Given the description of an element on the screen output the (x, y) to click on. 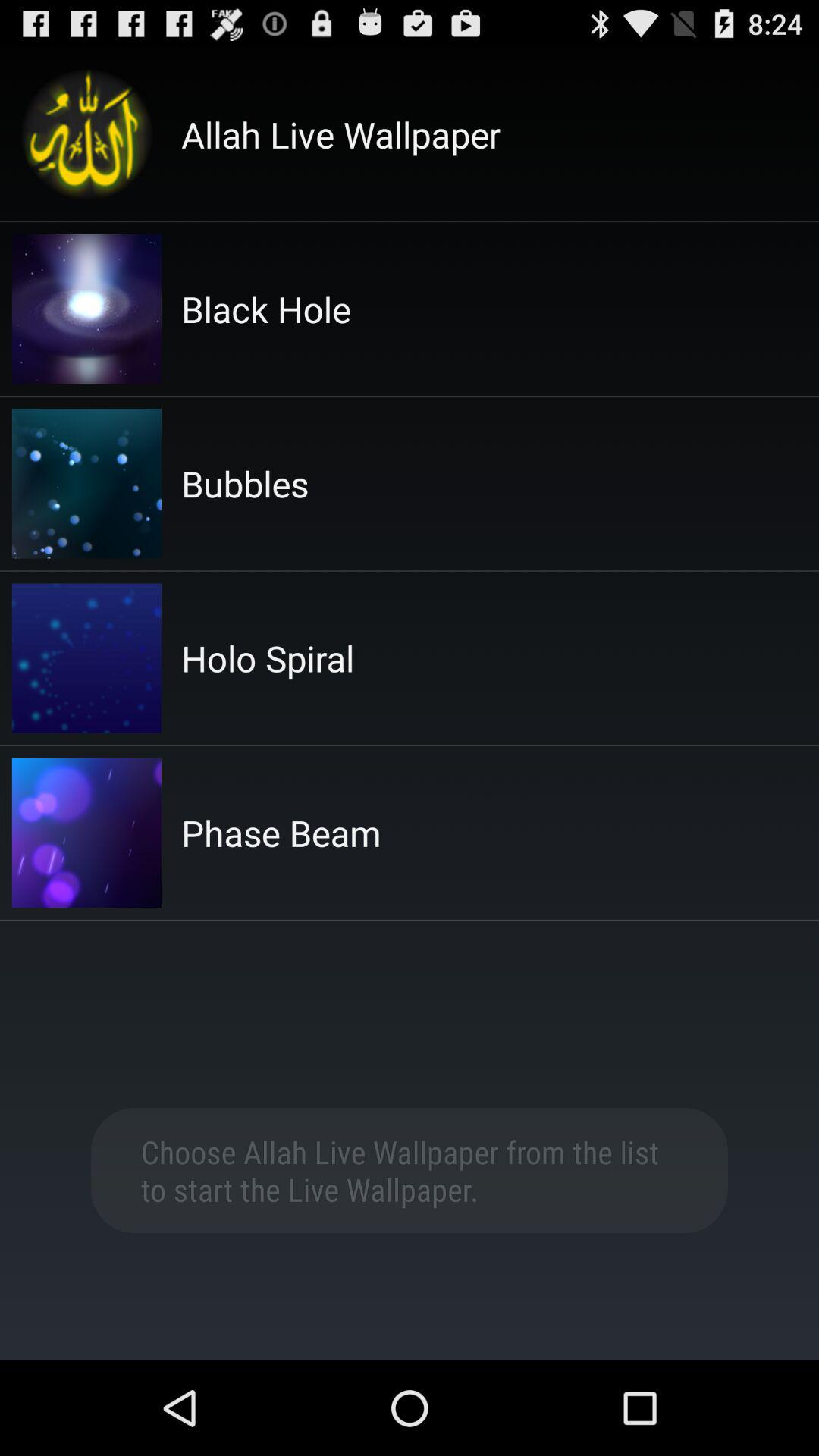
open the app at the top (341, 134)
